Given the description of an element on the screen output the (x, y) to click on. 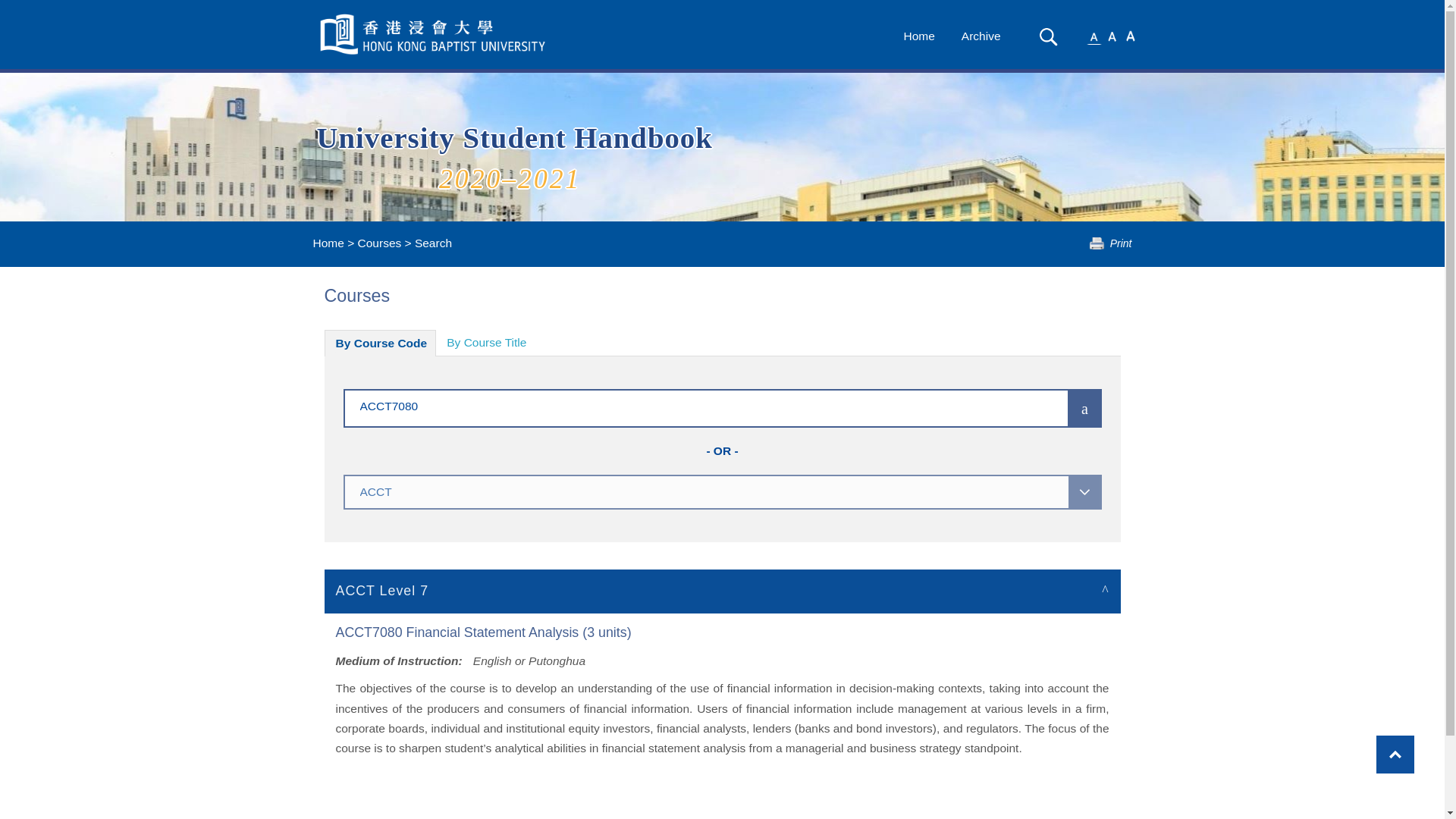
Search (1048, 36)
Home (328, 242)
Search (1048, 36)
Home (918, 36)
HKBU Student Handbook (434, 34)
By Course Code (381, 343)
Scroll To Top (1394, 754)
ACCT7080 (683, 404)
Scroll To Top (1394, 754)
By Course Title (486, 342)
Scroll To Top (1394, 754)
ACCT Level 7 (722, 590)
ACCT7080 (683, 404)
selected (434, 34)
Archive (981, 36)
